Given the description of an element on the screen output the (x, y) to click on. 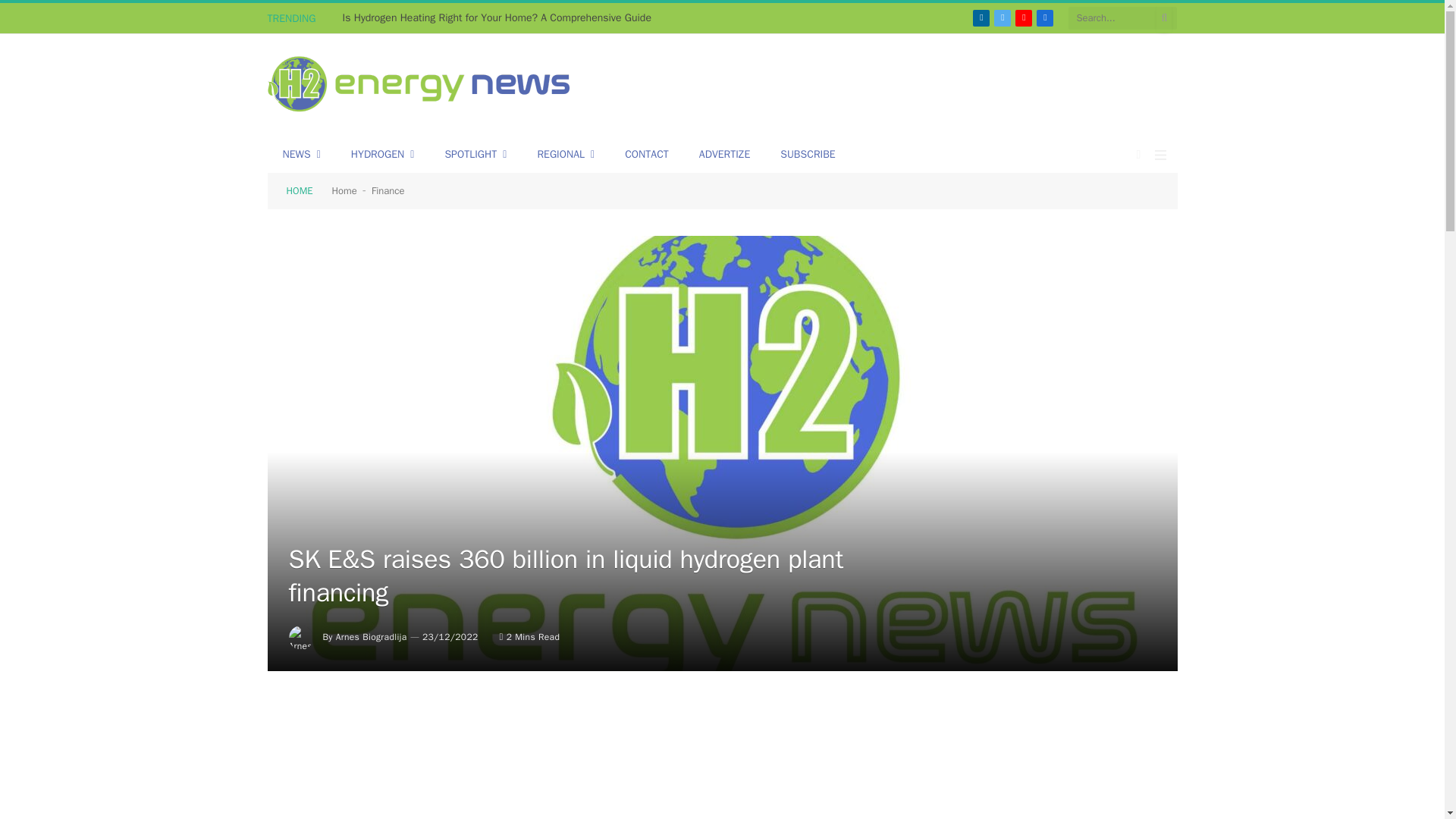
LinkedIn (981, 17)
YouTube (1023, 17)
HYDROGEN (382, 154)
Green Hydrogen News (418, 85)
Posts by Arnes Biogradlija (371, 636)
Facebook (1044, 17)
NEWS (300, 154)
Switch to Dark Design - easier on eyes. (1138, 154)
